Given the description of an element on the screen output the (x, y) to click on. 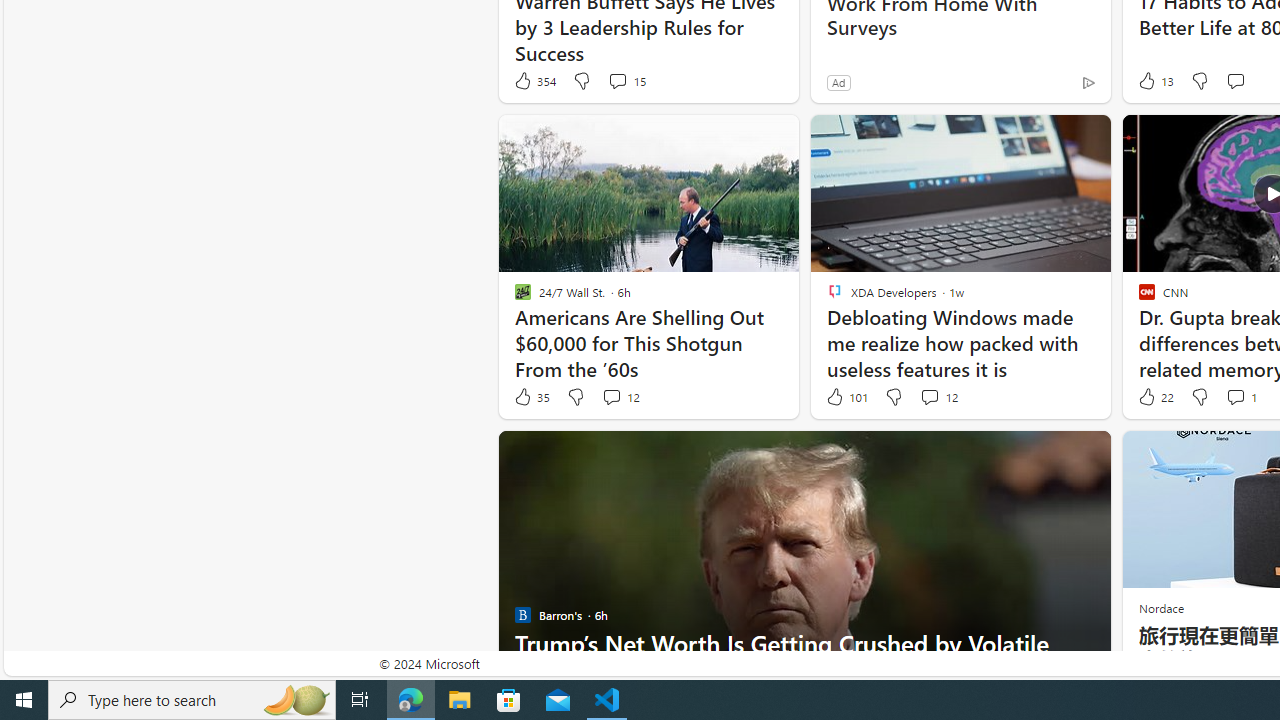
101 Like (845, 397)
View comments 12 Comment (938, 397)
View comments 15 Comment (626, 80)
